Given the description of an element on the screen output the (x, y) to click on. 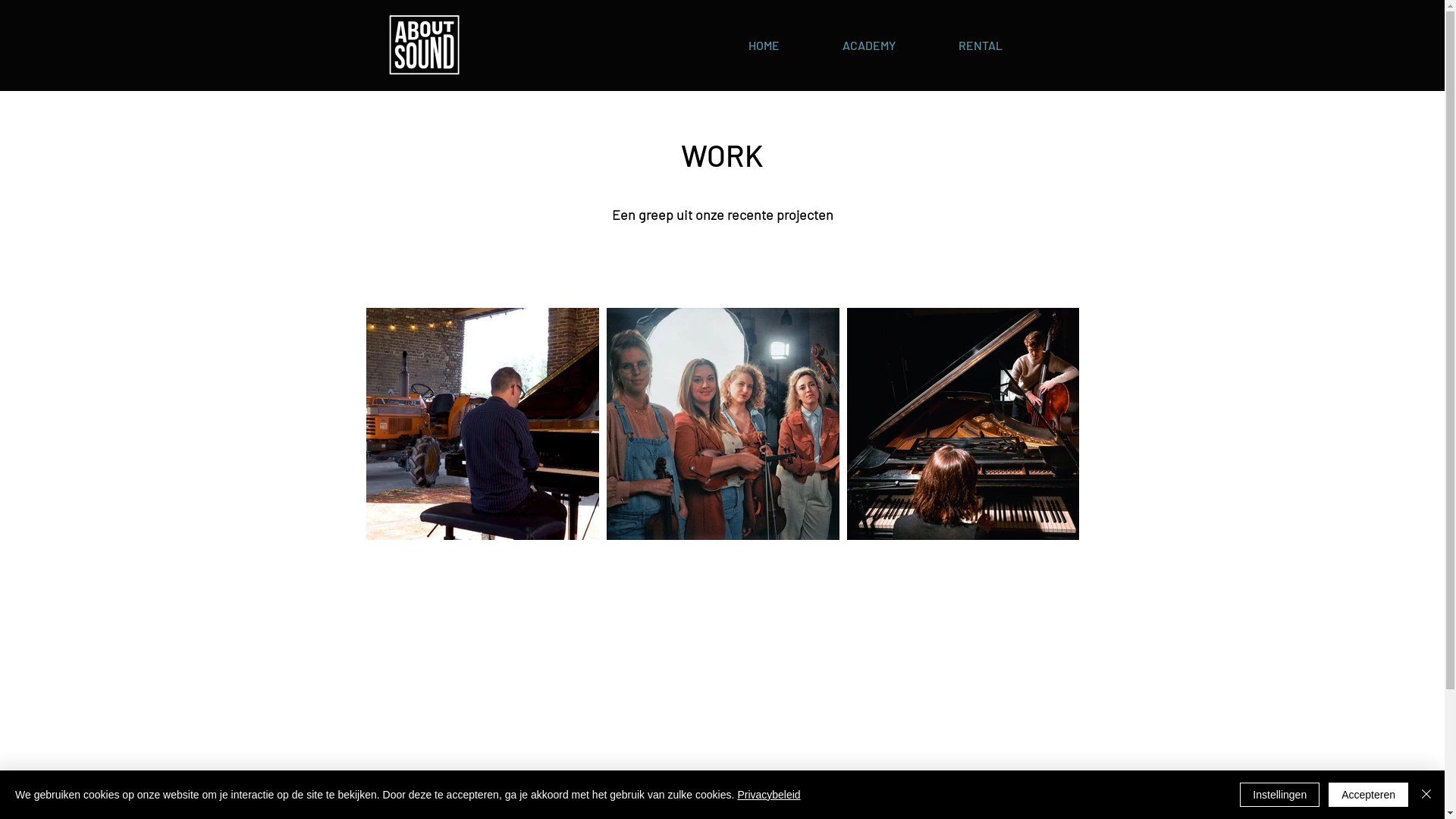
Accepteren Element type: text (1368, 794)
RENTAL Element type: text (979, 45)
ACADEMY Element type: text (868, 45)
Privacybeleid Element type: text (768, 794)
Instellingen Element type: text (1279, 794)
HOME Element type: text (763, 45)
